Given the description of an element on the screen output the (x, y) to click on. 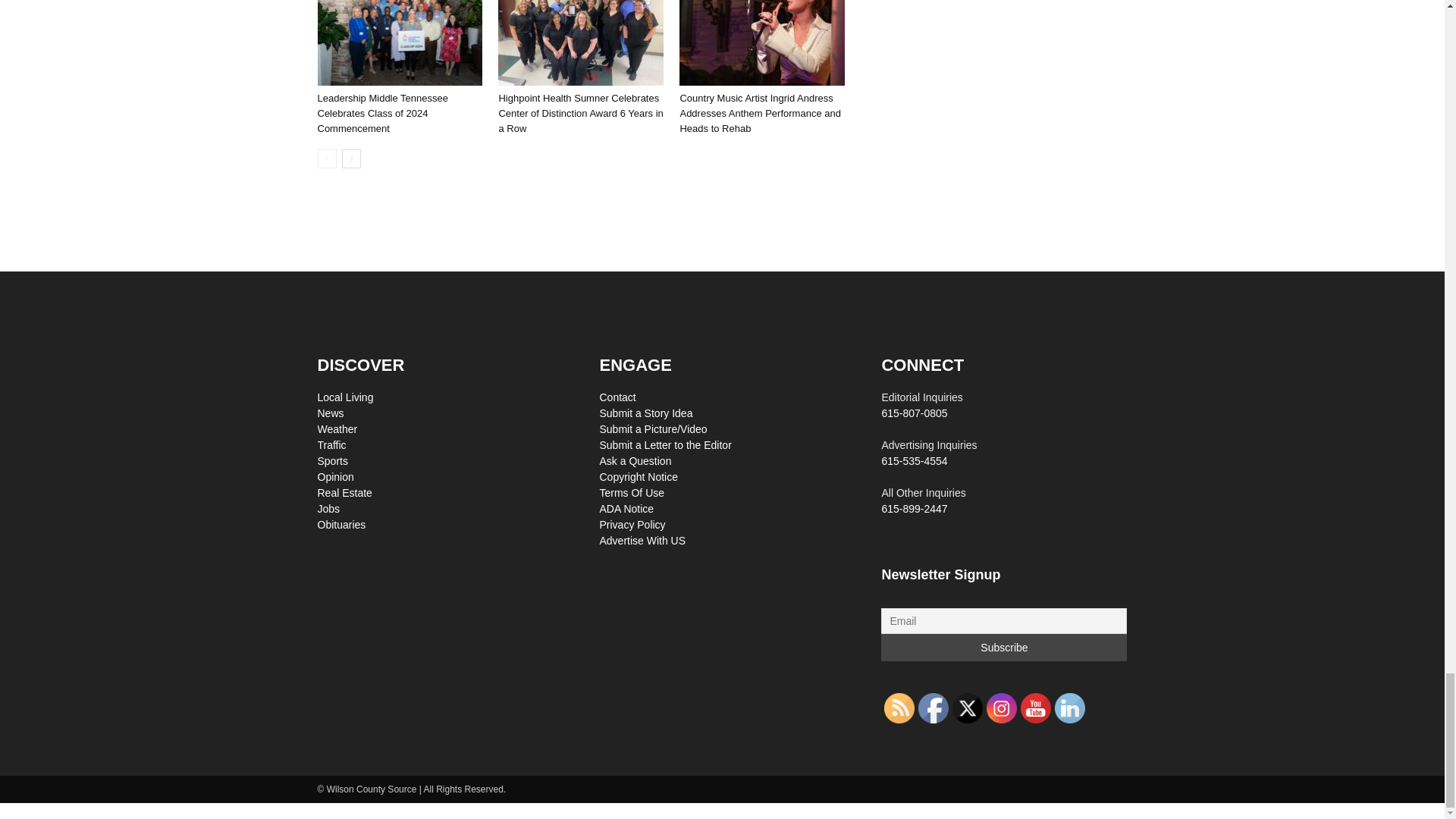
Subscribe (1003, 646)
